Given the description of an element on the screen output the (x, y) to click on. 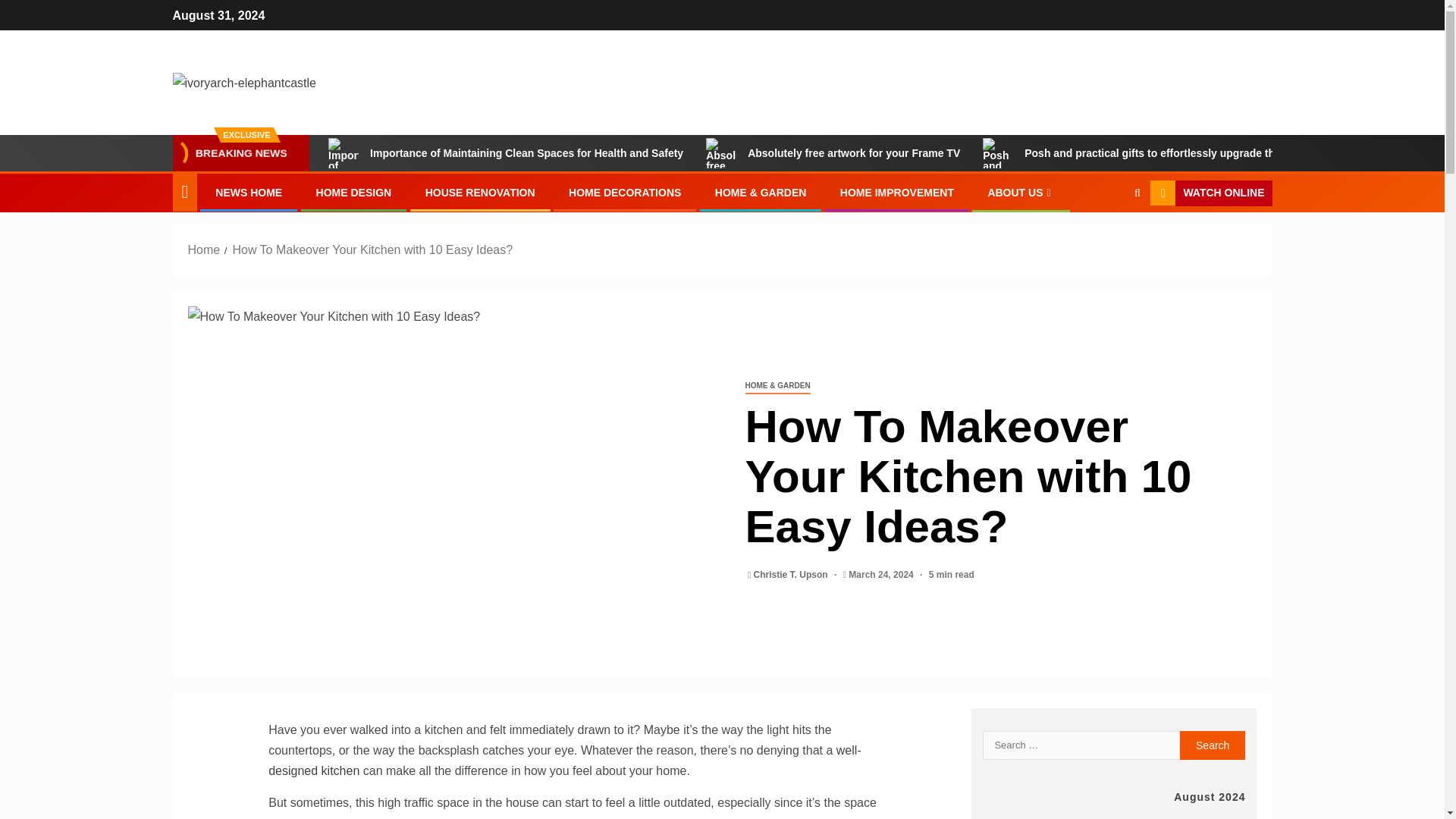
Home (204, 249)
Importance of Maintaining Clean Spaces for Health and Safety (505, 153)
Search (1212, 745)
Absolutely free artwork for your Frame TV (832, 153)
ABOUT US (1020, 192)
Search (1212, 745)
HOME IMPROVEMENT (896, 192)
HOME DECORATIONS (625, 192)
How To Makeover Your Kitchen with 10 Easy Ideas? (371, 249)
Search (1107, 239)
